Given the description of an element on the screen output the (x, y) to click on. 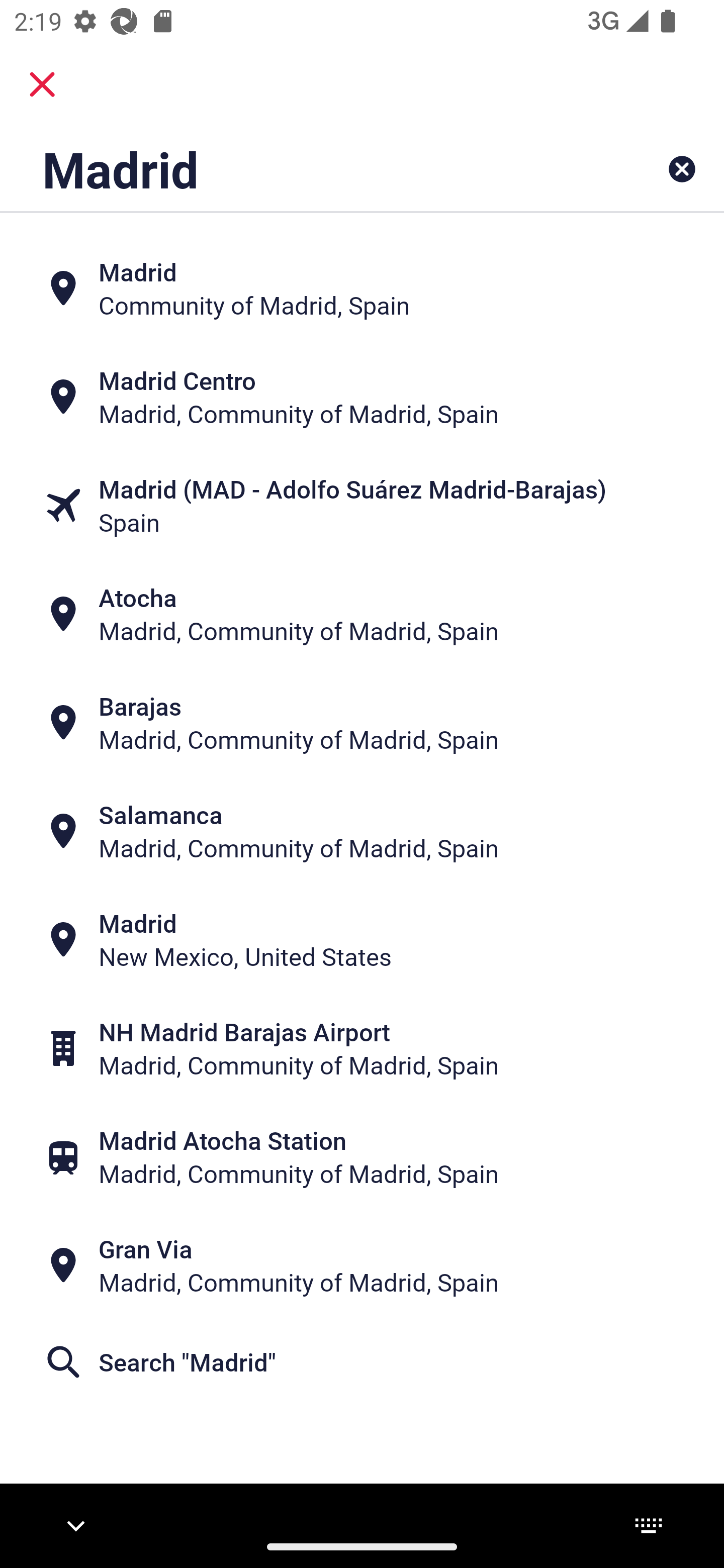
close. (42, 84)
Clear (681, 169)
Madrid (298, 169)
Madrid Community of Madrid, Spain (362, 288)
Madrid Centro Madrid, Community of Madrid, Spain (362, 397)
Madrid (MAD - Adolfo Suárez Madrid-Barajas) Spain (362, 505)
Atocha Madrid, Community of Madrid, Spain (362, 613)
Barajas Madrid, Community of Madrid, Spain (362, 722)
Salamanca Madrid, Community of Madrid, Spain (362, 831)
Madrid New Mexico, United States (362, 939)
Gran Via Madrid, Community of Madrid, Spain (362, 1265)
Search "Madrid" (362, 1362)
